Given the description of an element on the screen output the (x, y) to click on. 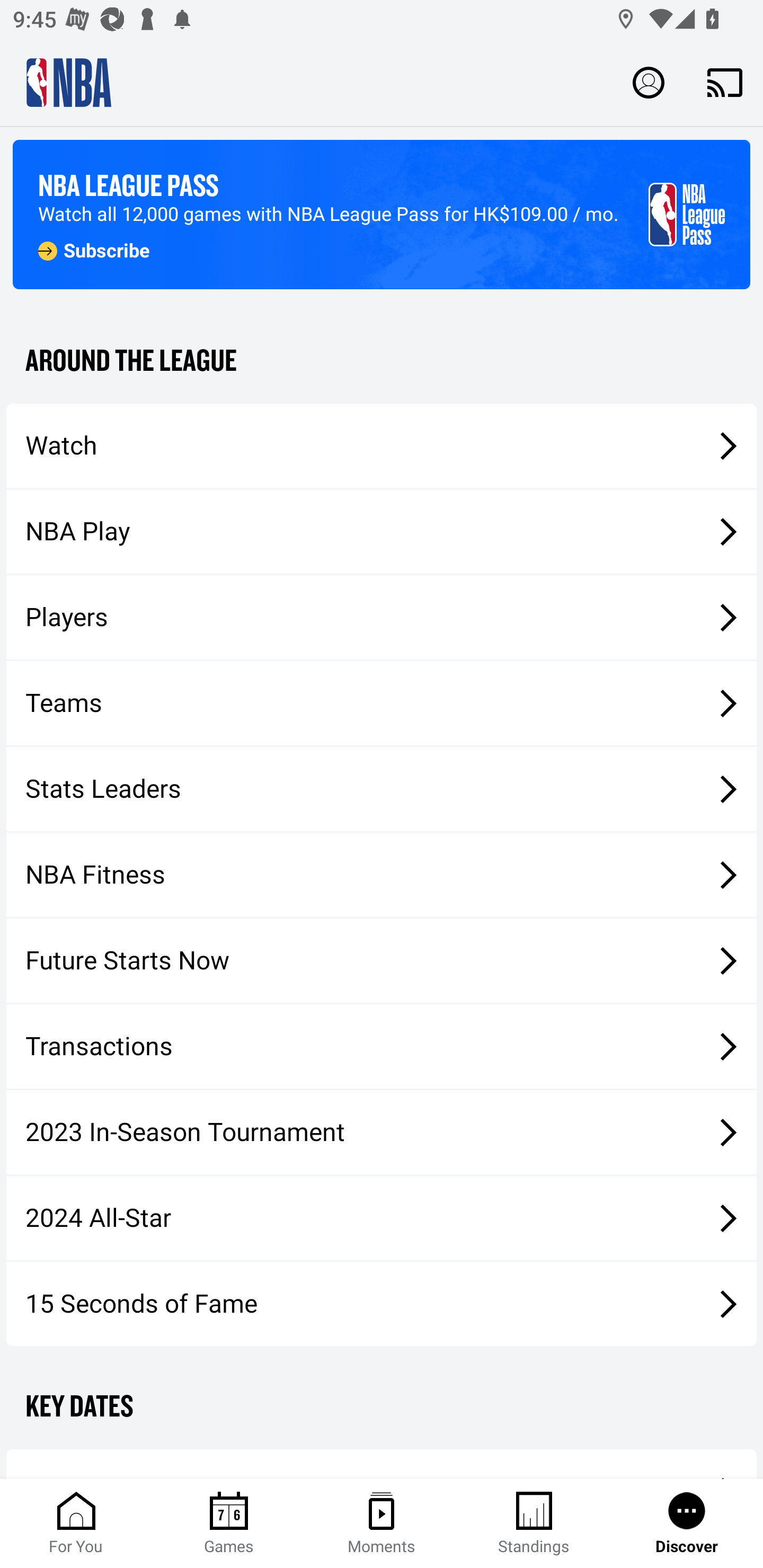
Cast. Disconnected (724, 82)
Profile (648, 81)
Watch (381, 444)
NBA Play (381, 531)
Players (381, 617)
Teams (381, 702)
Stats Leaders (381, 788)
NBA Fitness (381, 874)
Future Starts Now (381, 960)
Transactions (381, 1046)
2023 In-Season Tournament (381, 1131)
2024 All-Star (381, 1218)
15 Seconds of Fame (381, 1303)
For You (76, 1523)
Games (228, 1523)
Moments (381, 1523)
Standings (533, 1523)
